Given the description of an element on the screen output the (x, y) to click on. 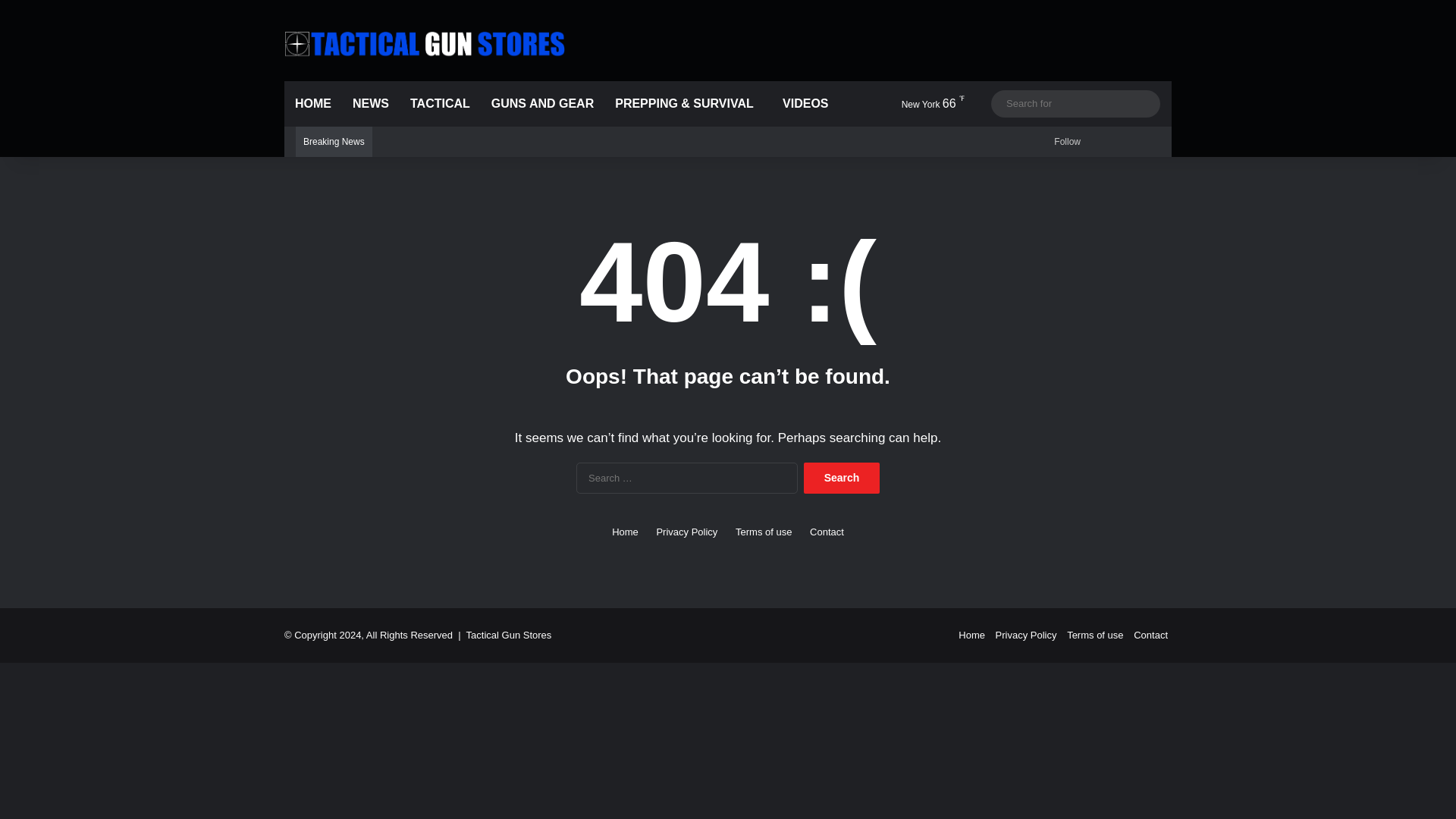
Terms of use (763, 531)
Tactical Gun Stores (423, 43)
Follow (1064, 141)
Contact (826, 531)
Search for (1075, 103)
Home (971, 634)
NEWS (370, 103)
HOME (312, 103)
Search (841, 477)
Search for (1144, 103)
